Given the description of an element on the screen output the (x, y) to click on. 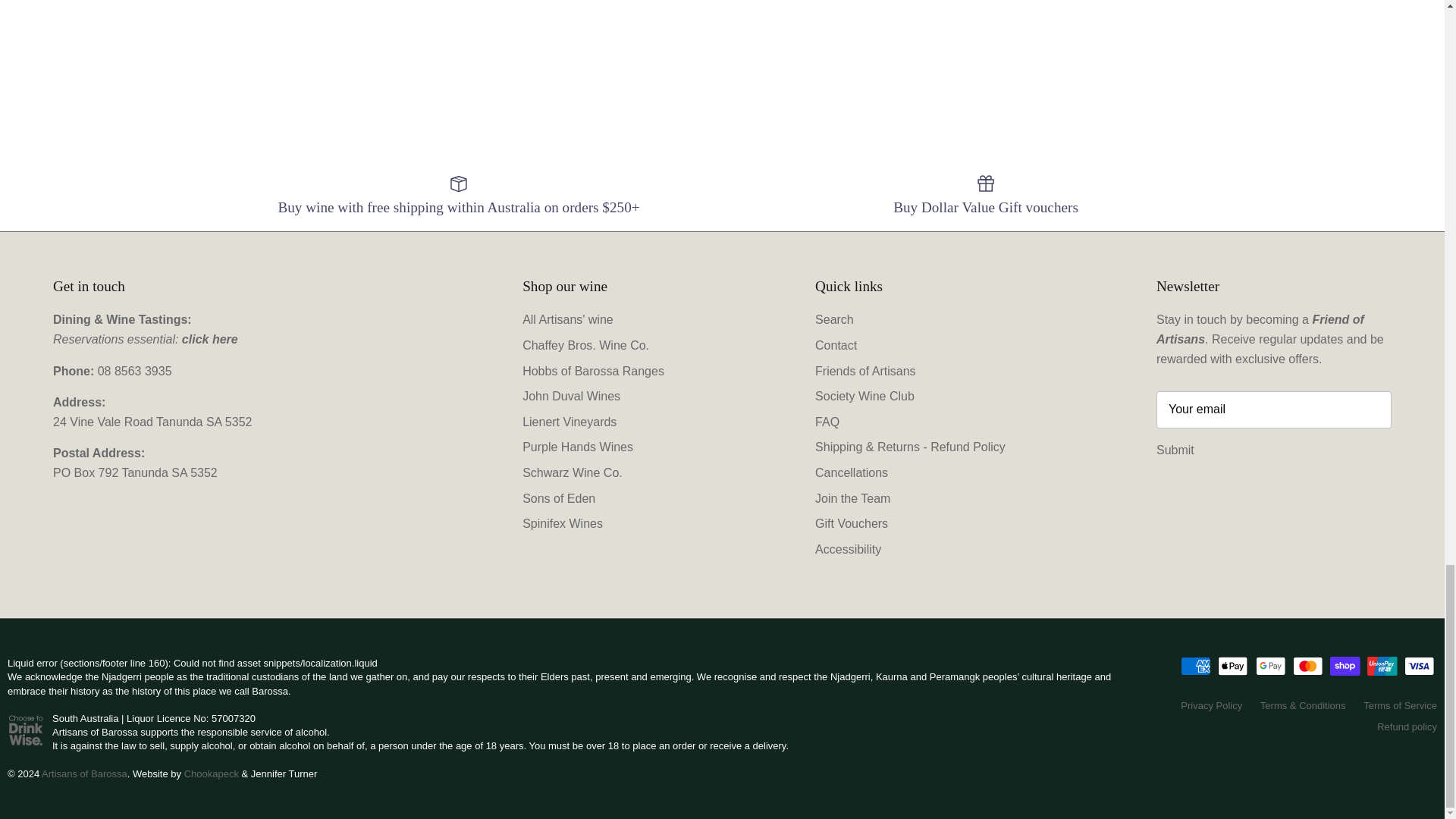
Union Pay (1382, 665)
Google Pay (1270, 665)
GOOGLE MAPS (151, 421)
Visa (1419, 665)
Book (210, 338)
Shop Pay (1344, 665)
Mastercard (1307, 665)
Apple Pay (1232, 665)
tel:08 8563 3935 (134, 370)
American Express (1195, 665)
